Given the description of an element on the screen output the (x, y) to click on. 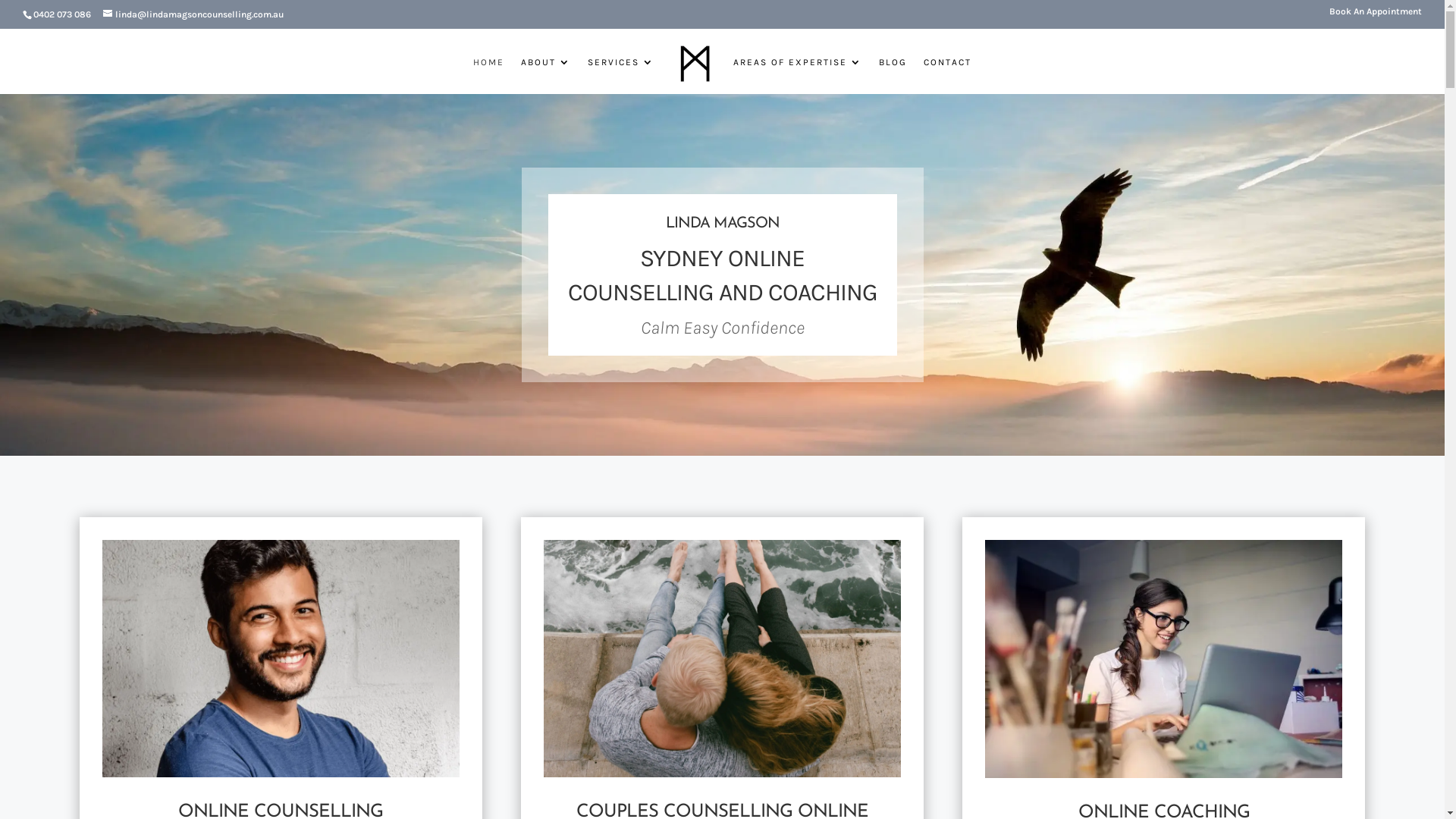
linda@lindamagsoncounselling.com.au Element type: text (193, 14)
Book An Appointment Element type: text (1375, 14)
BLOG Element type: text (892, 75)
HOME Element type: text (488, 75)
ABOUT Element type: text (545, 75)
CONTACT Element type: text (947, 75)
SERVICES Element type: text (620, 75)
AREAS OF EXPERTISE Element type: text (797, 75)
